Given the description of an element on the screen output the (x, y) to click on. 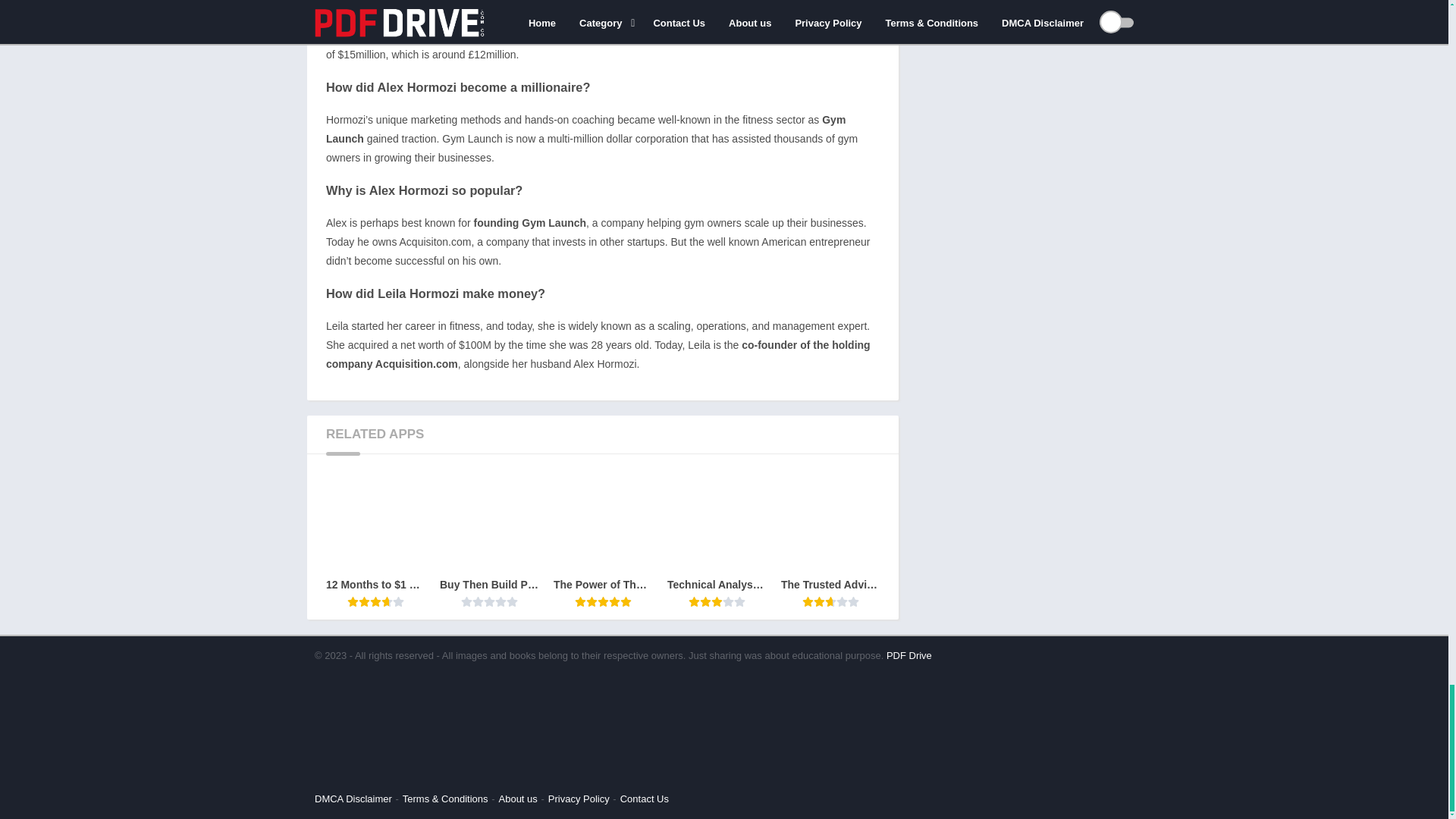
Buy Then Build PDF by Walker Deibel (488, 540)
The Power of The Yield PDF: A Comprehensive Guide (602, 540)
DMCA.com Protection Status (427, 774)
